Given the description of an element on the screen output the (x, y) to click on. 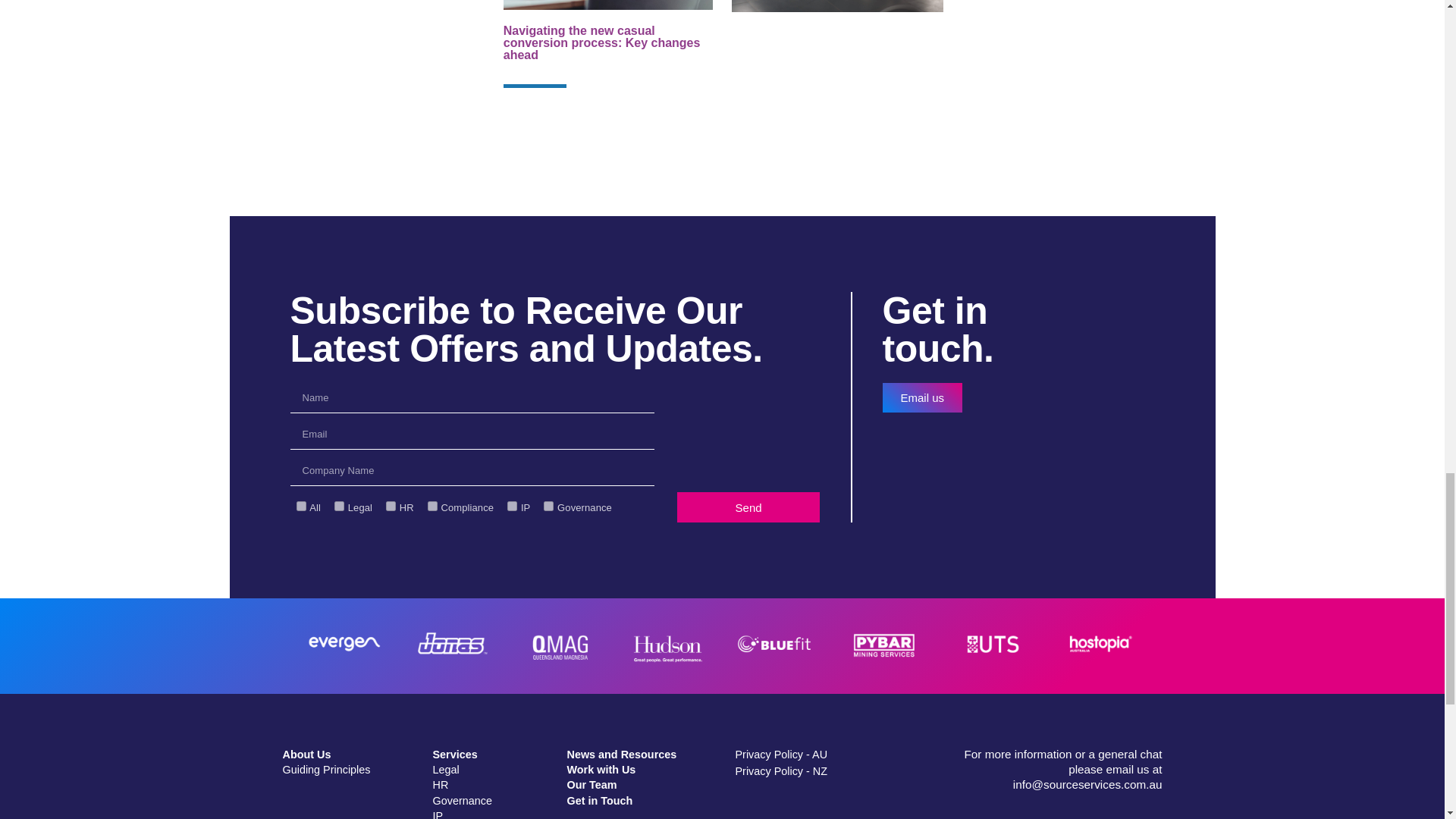
Governance (548, 506)
All (300, 506)
Corporate business team and manager in a meeting (837, 6)
Compliance (433, 506)
HR (390, 506)
Legal (338, 506)
IP (511, 506)
